Given the description of an element on the screen output the (x, y) to click on. 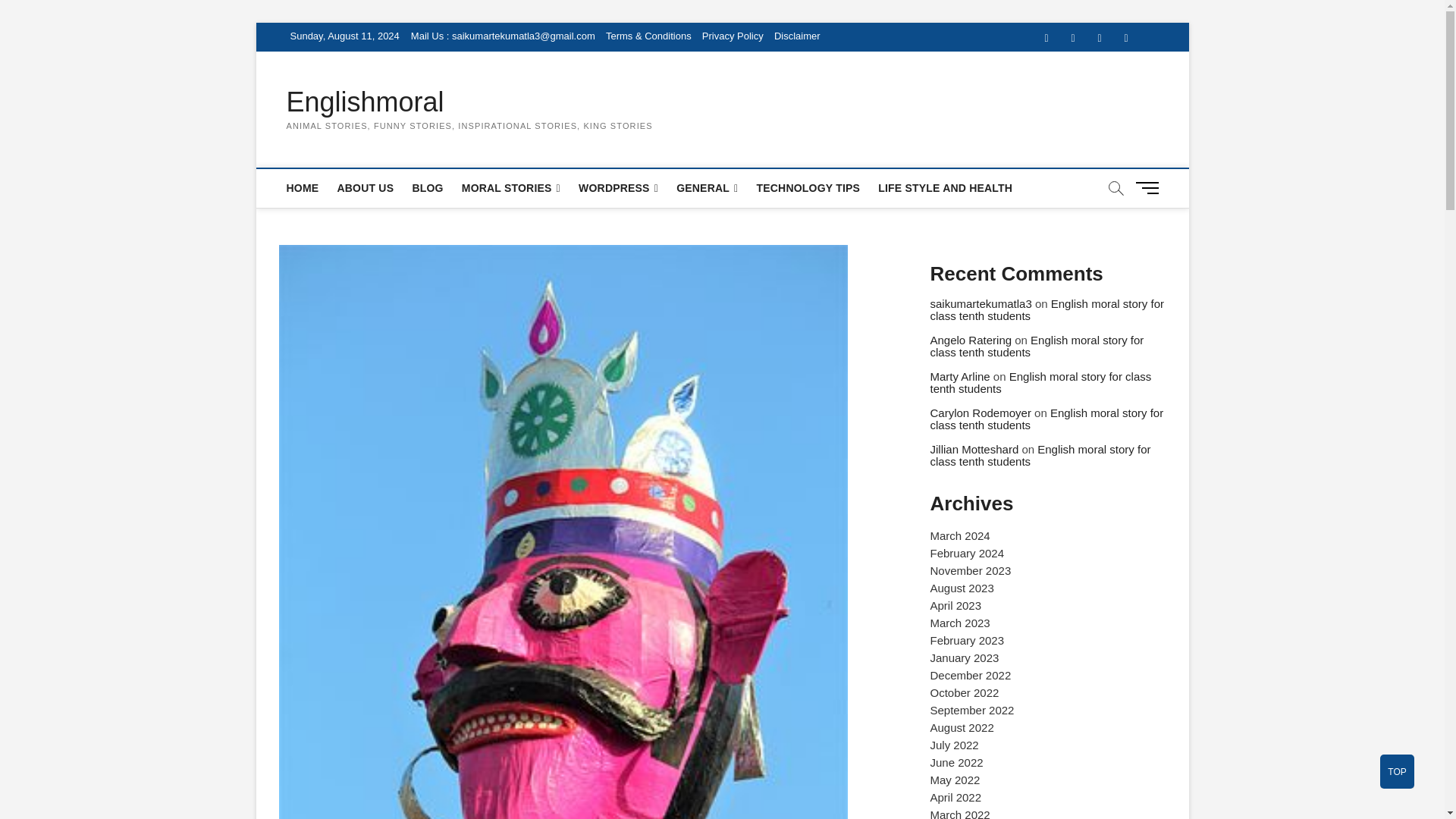
Twitter (1072, 38)
Facebook (1045, 38)
ABOUT US (365, 187)
Disclaimer (797, 35)
WORDPRESS (617, 188)
GENERAL (706, 188)
Englishmoral (469, 101)
BLOG (426, 187)
Disclaimer (797, 35)
